Given the description of an element on the screen output the (x, y) to click on. 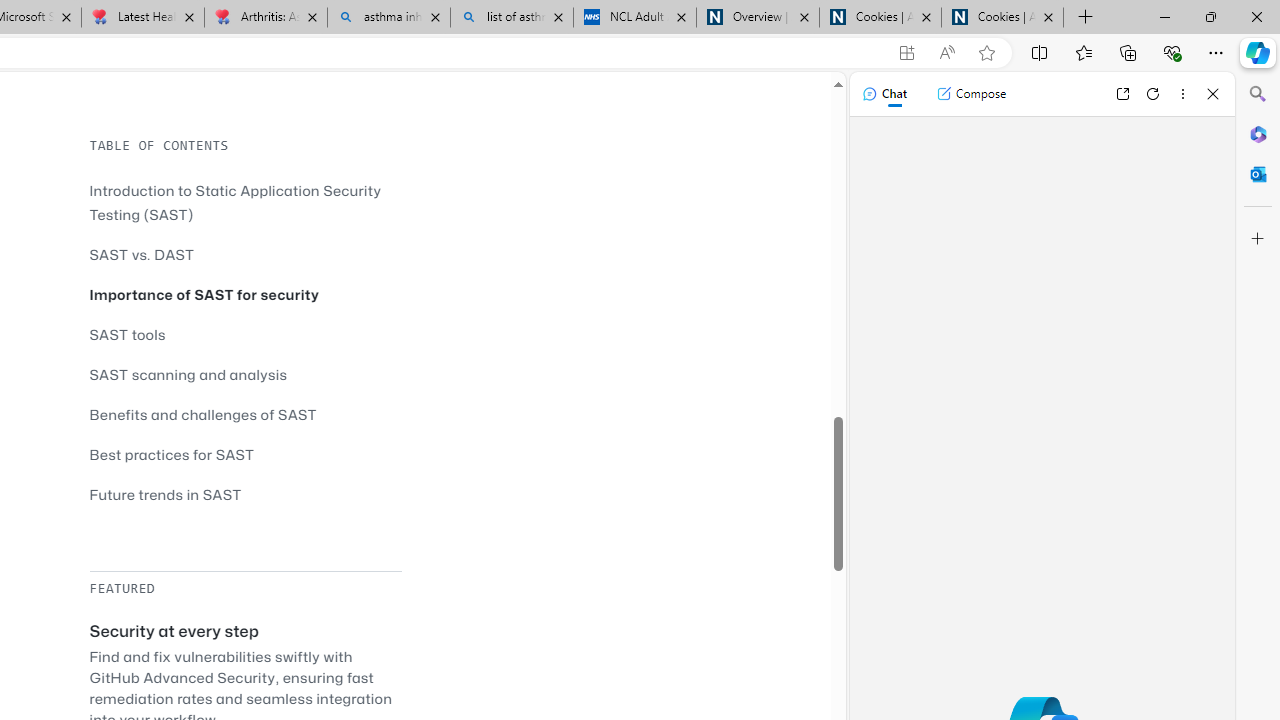
Arthritis: Ask Health Professionals (265, 17)
Importance of SAST for security (245, 294)
Open link in new tab (1122, 93)
Future trends in SAST (165, 494)
SAST scanning and analysis (188, 374)
Compose (971, 93)
